Given the description of an element on the screen output the (x, y) to click on. 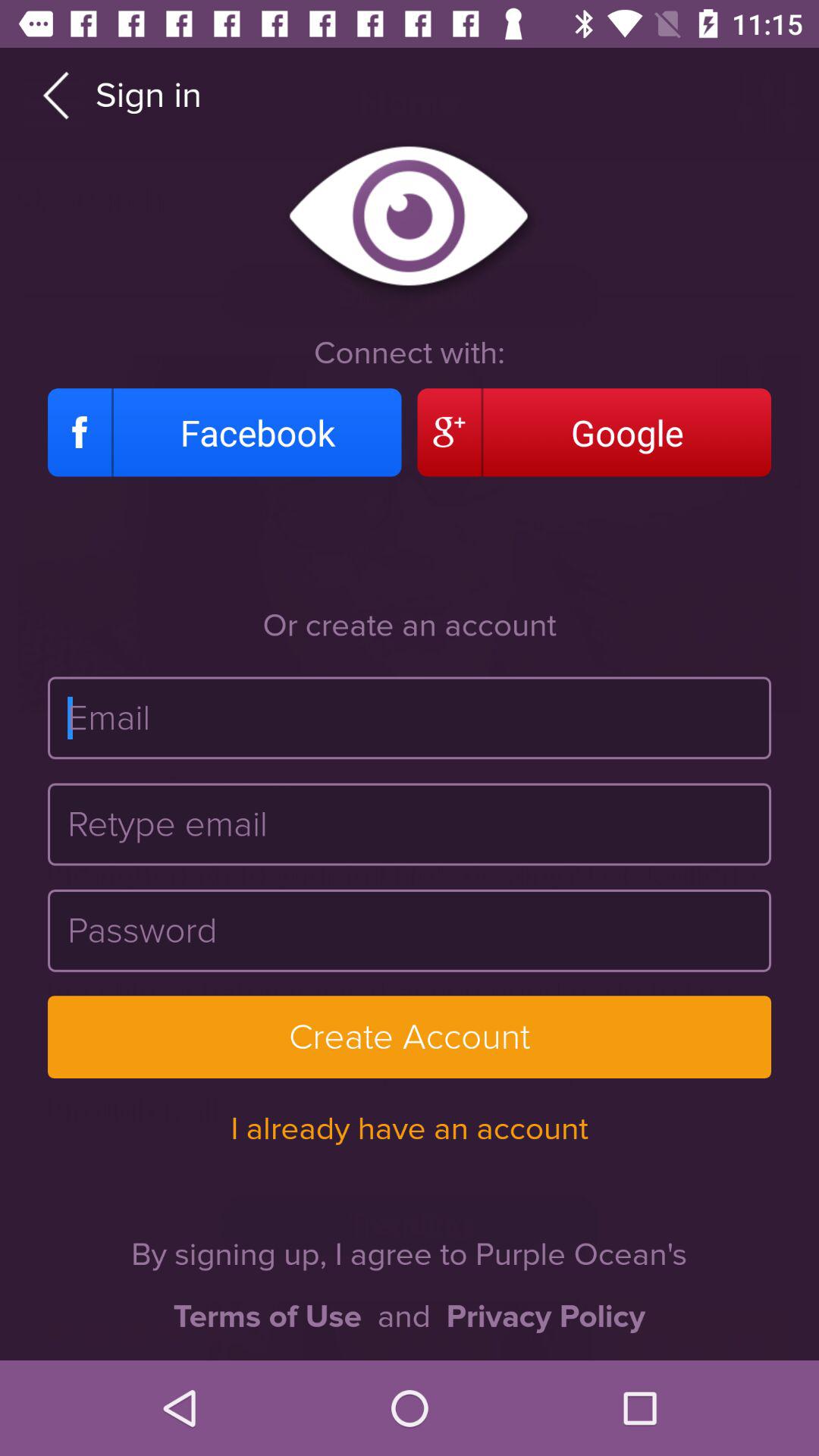
type your password (409, 930)
